Given the description of an element on the screen output the (x, y) to click on. 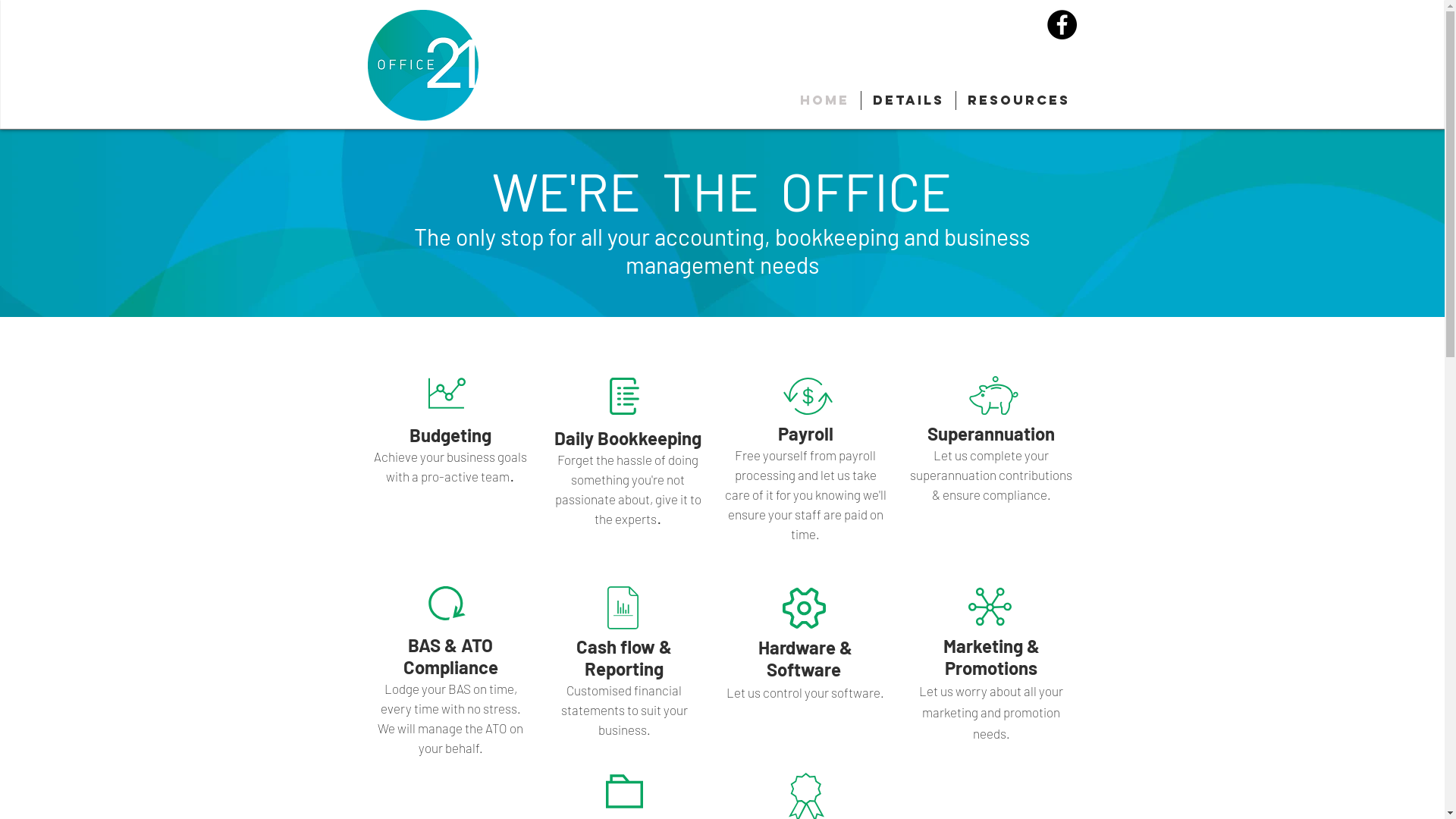
Home Element type: text (824, 100)
Resources Element type: text (1017, 100)
Details Element type: text (908, 100)
